Given the description of an element on the screen output the (x, y) to click on. 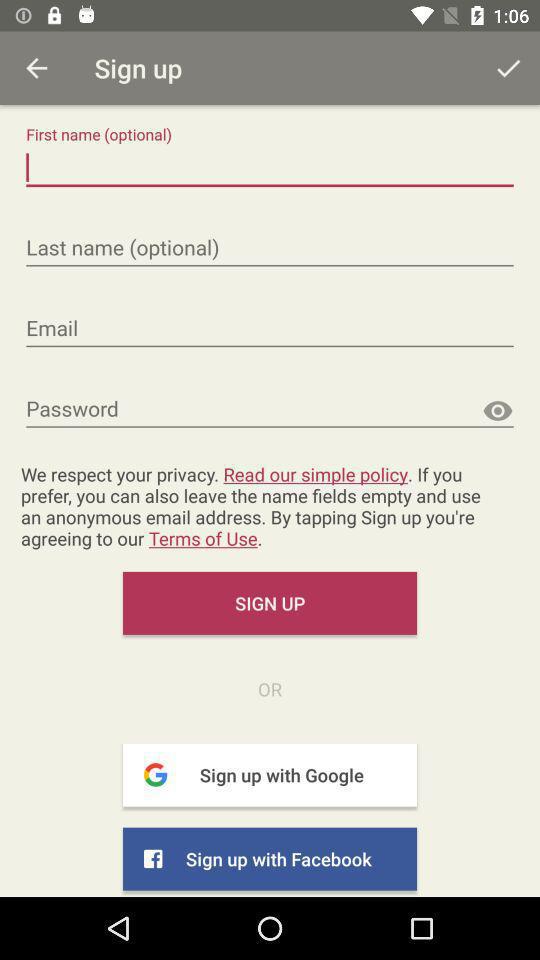
last name optional (270, 248)
